Given the description of an element on the screen output the (x, y) to click on. 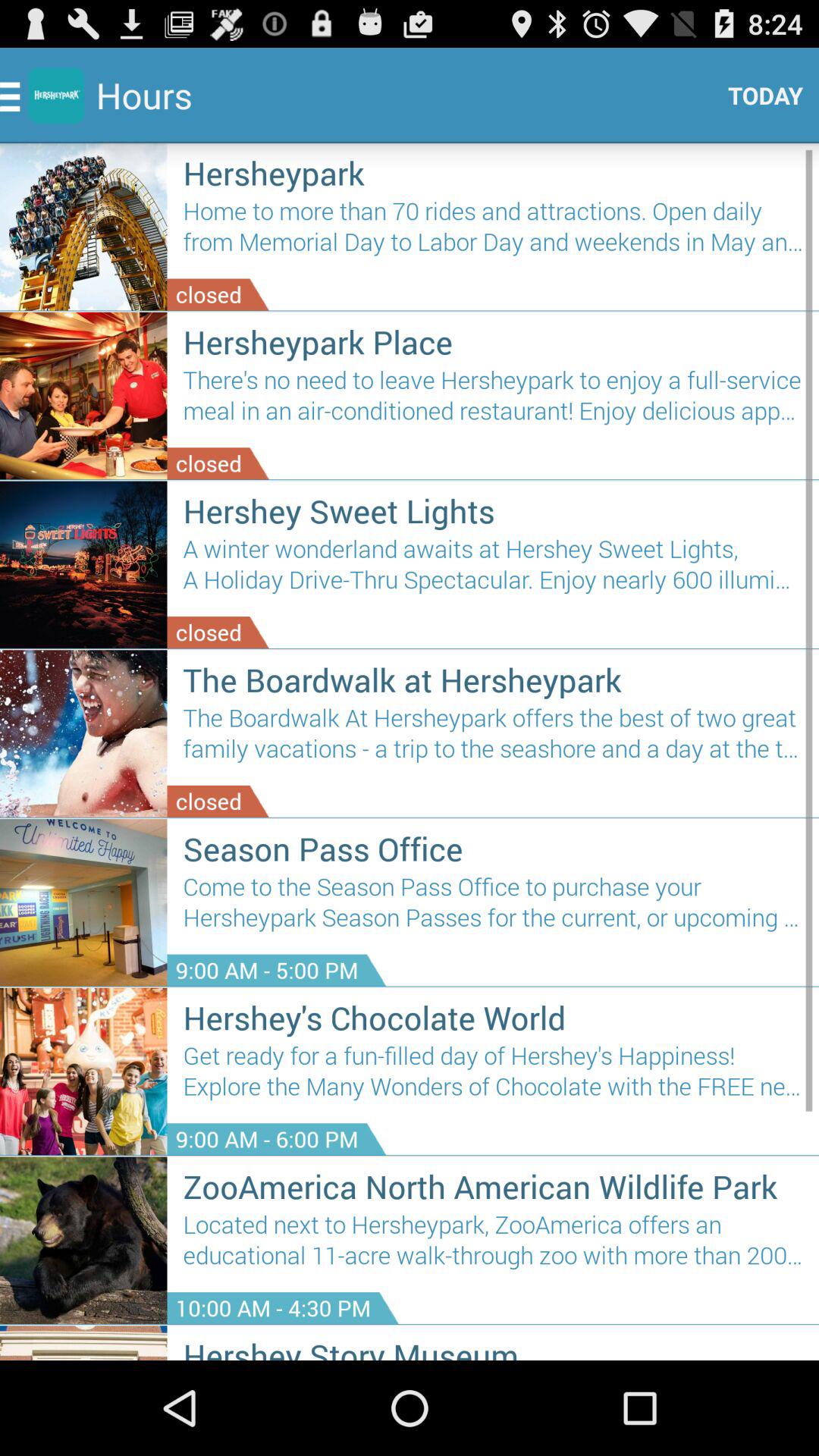
scroll until hersheypark place item (493, 341)
